Given the description of an element on the screen output the (x, y) to click on. 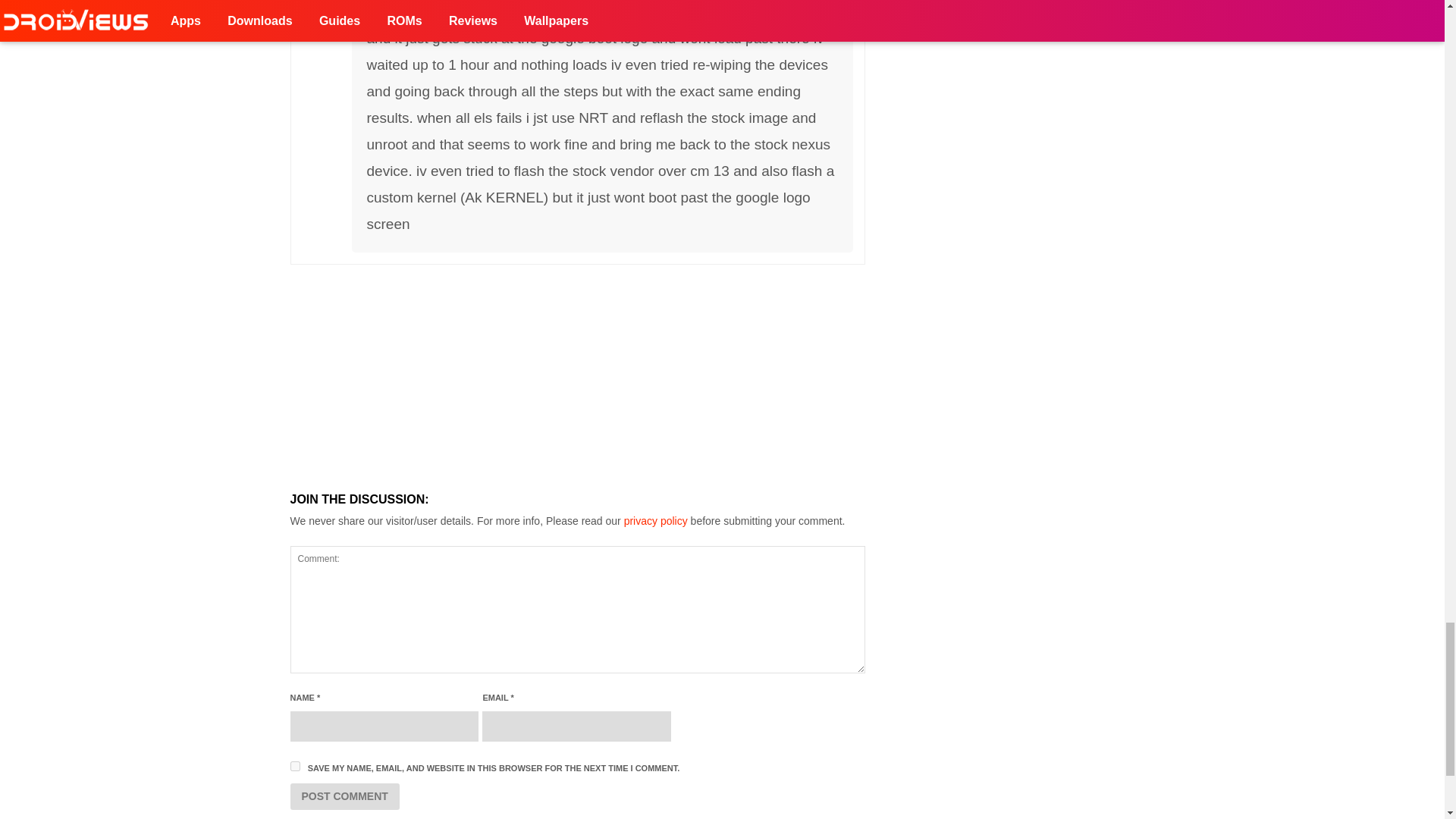
yes (294, 766)
Post Comment (343, 795)
privacy policy (655, 521)
Post Comment (343, 795)
comment-policy-title (655, 521)
